Given the description of an element on the screen output the (x, y) to click on. 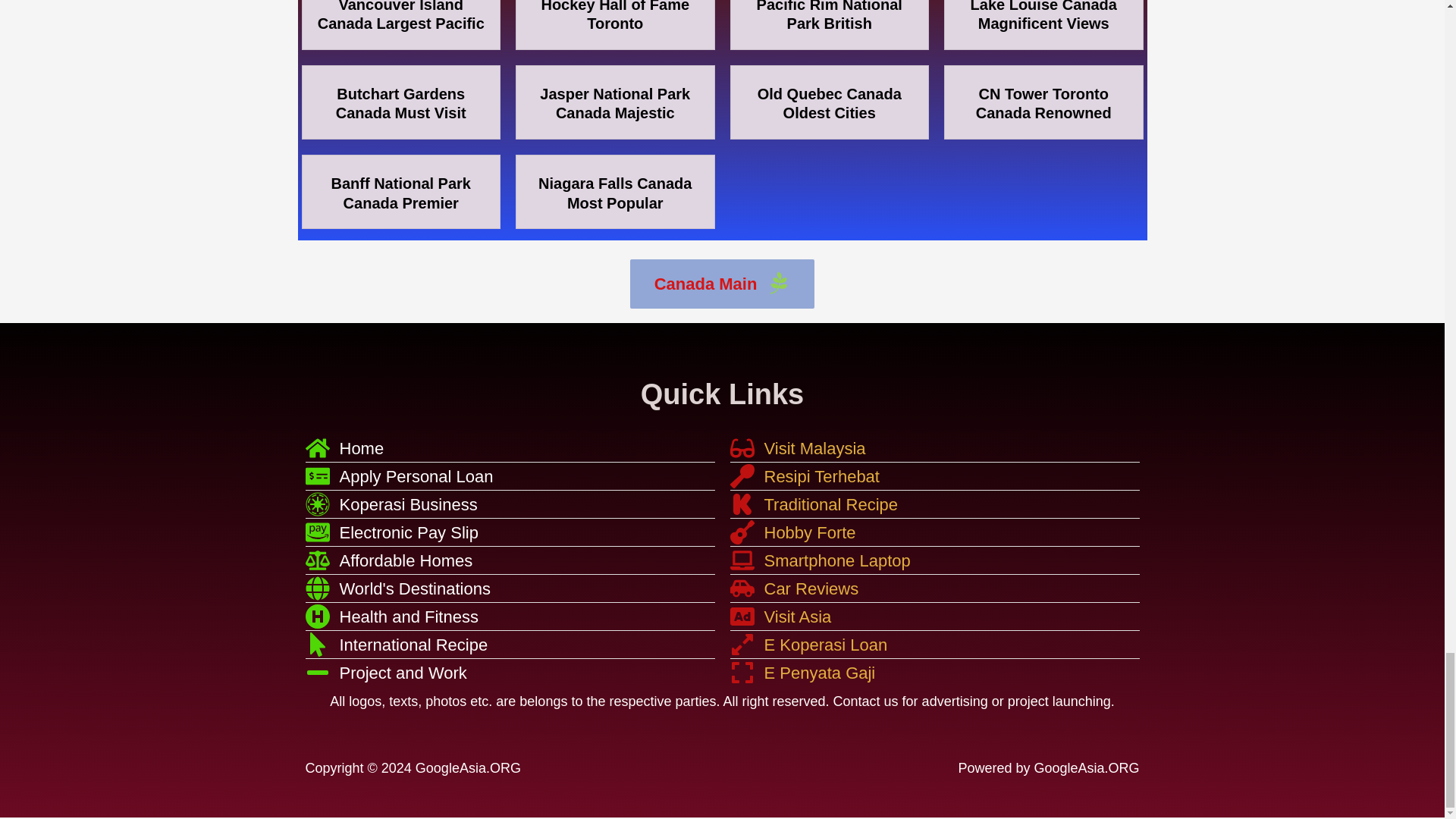
Niagara Falls Canada Most Popular Destination-1 (614, 193)
Electronic Pay Slip (509, 532)
Vancouver Island Canada Largest Pacific (400, 16)
Hockey Hall of Fame Toronto (614, 16)
Apply Personal Loan (509, 476)
Jasper National Park Canada Majestic (615, 103)
Banff National Park Canada Premier Destination-1 (400, 193)
Old Quebec Canada Oldest Cities in North America-1 (829, 103)
Pacific Rim National Park British Columbia Canada-1 (829, 16)
Vancouver Island Canada Largest Pacific Island-1 (400, 16)
